Given the description of an element on the screen output the (x, y) to click on. 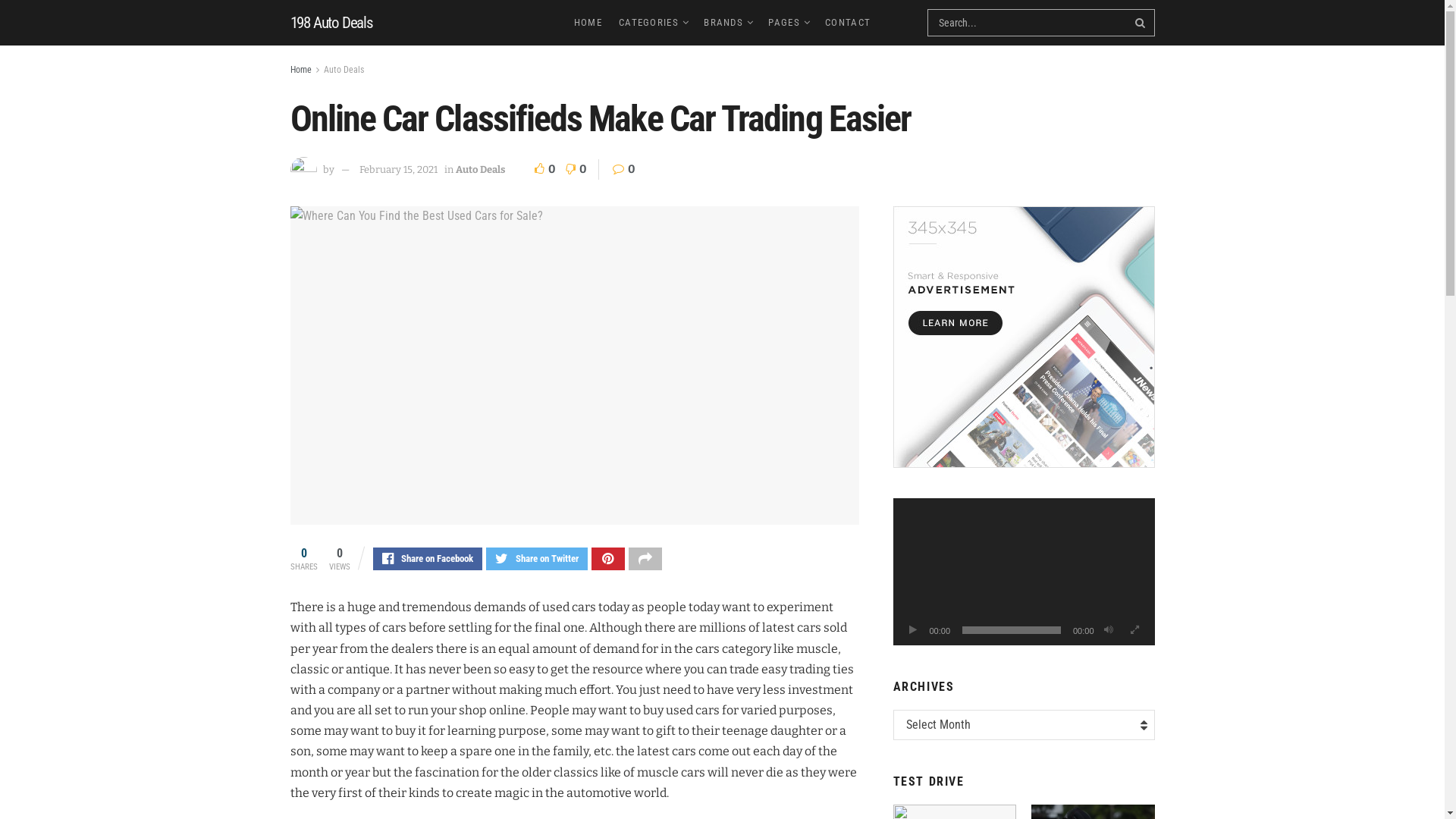
198 Auto Deals Element type: text (330, 23)
Select Month Element type: text (1023, 724)
Auto Deals Element type: text (479, 169)
PAGES Element type: text (788, 22)
CONTACT Element type: text (847, 22)
Auto Deals Element type: text (343, 69)
Fullscreen Element type: hover (1134, 629)
Play Element type: hover (912, 629)
HOME Element type: text (588, 22)
Share on Twitter Element type: text (535, 558)
February 15, 2021 Element type: text (398, 169)
CATEGORIES Element type: text (652, 22)
Home Element type: text (299, 69)
BRANDS Element type: text (727, 22)
Mute Element type: hover (1108, 629)
0 Element type: text (545, 168)
0 Element type: text (623, 168)
0 Element type: text (572, 168)
Share on Facebook Element type: text (427, 558)
